Given the description of an element on the screen output the (x, y) to click on. 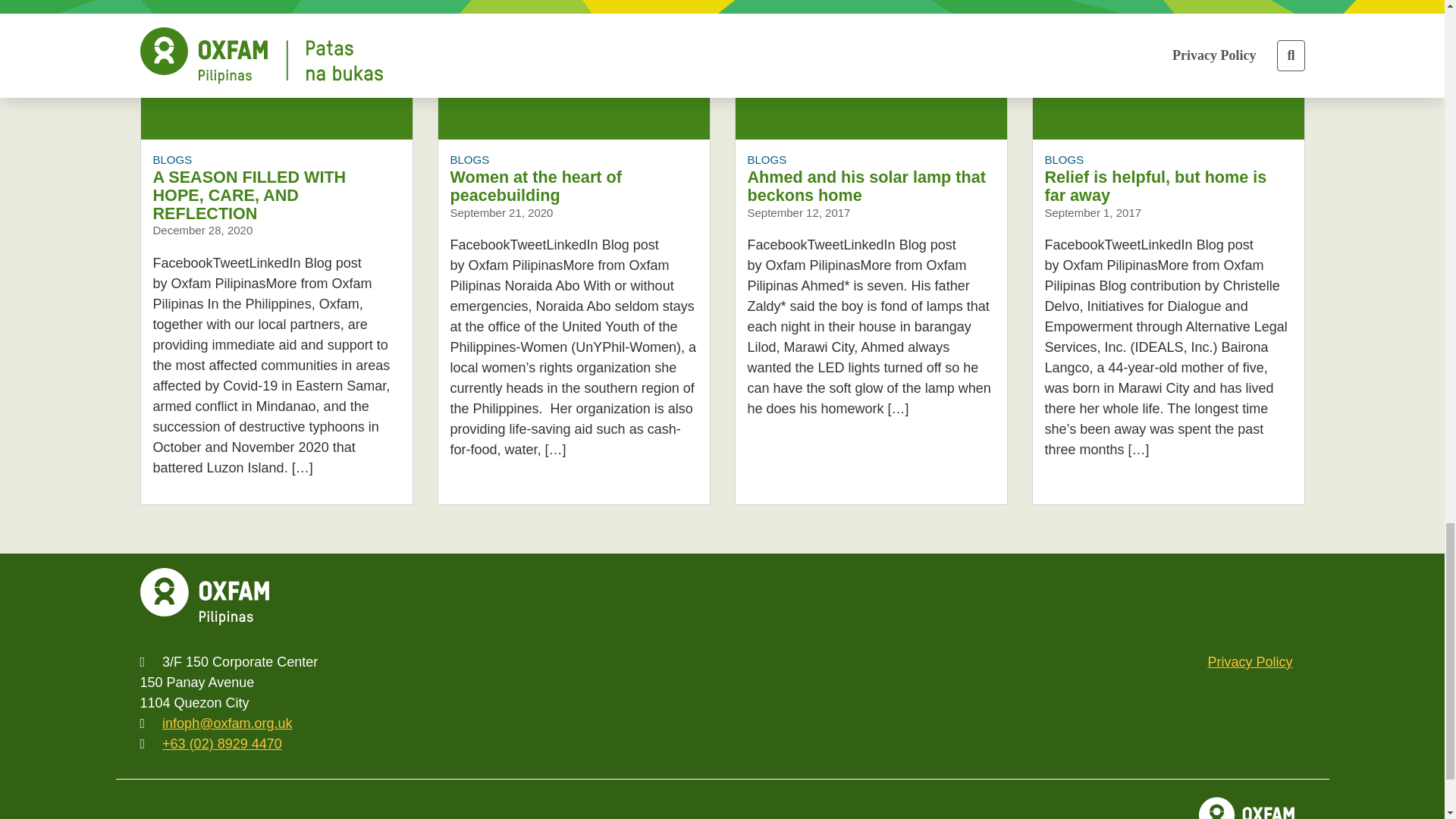
Relief is helpful, but home is far away (1155, 185)
Women at the heart of peacebuilding (535, 185)
BLOGS (172, 159)
Oxfam Pilipinas Instagram account (1128, 596)
Ahmed and his solar lamp that beckons home (871, 69)
BLOGS (1064, 159)
Oxfam Pilipinas TikTok channel (1228, 596)
Privacy Policy (1249, 661)
Women at the heart of peacebuilding (574, 69)
Oxfam Pilipinas (203, 596)
